Given the description of an element on the screen output the (x, y) to click on. 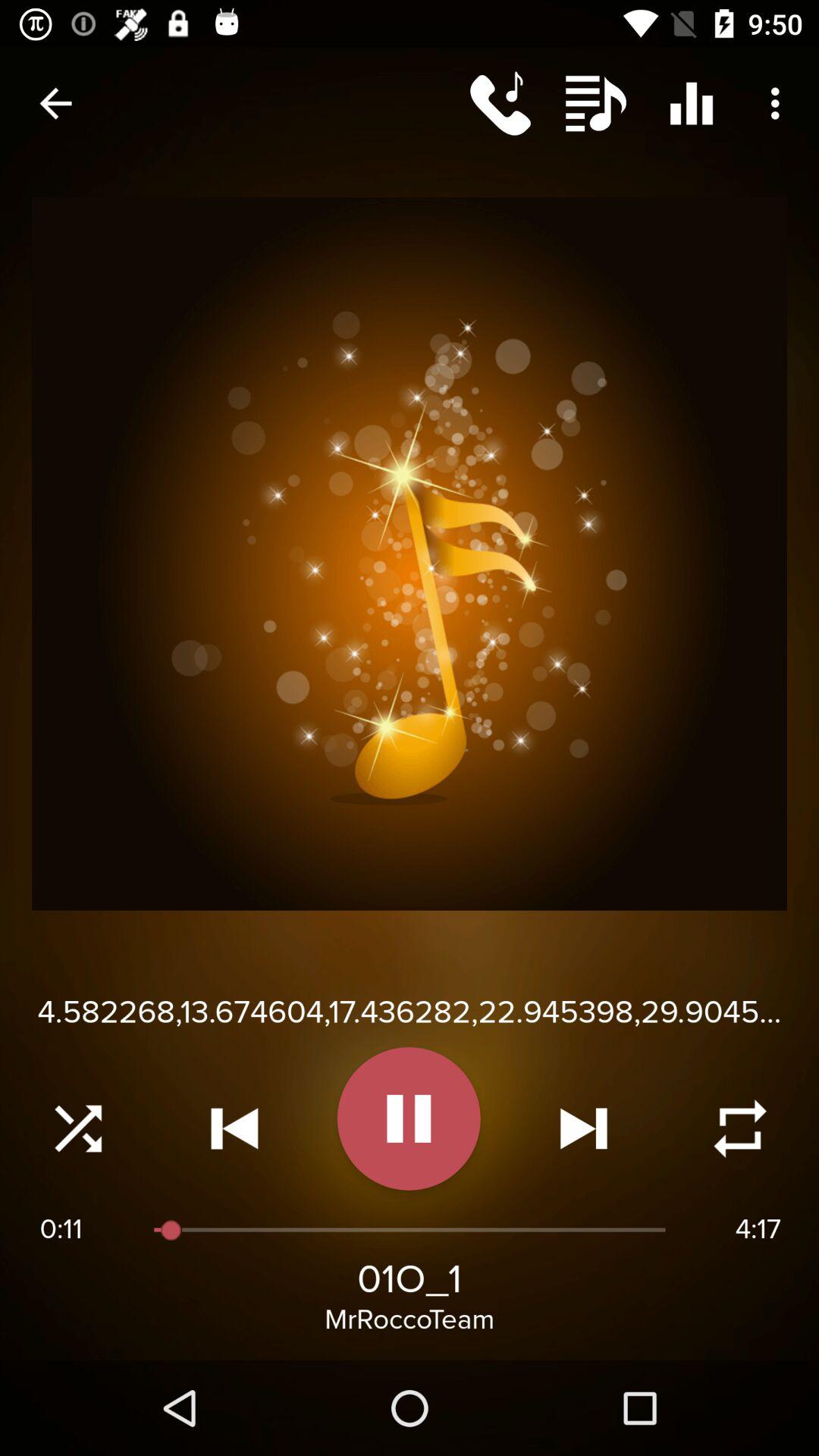
next (583, 1128)
